Given the description of an element on the screen output the (x, y) to click on. 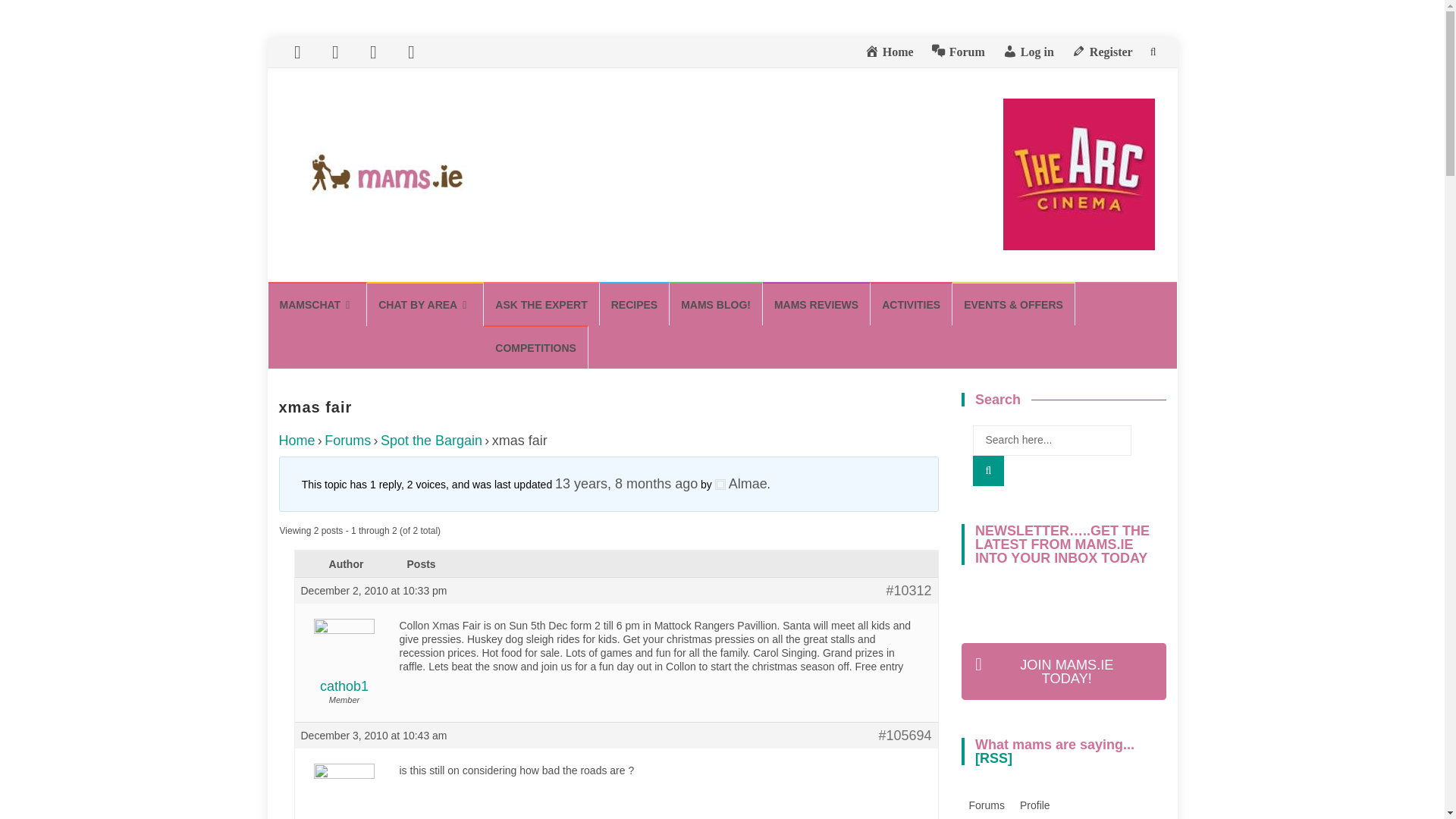
View Almae's profile (740, 483)
Search (988, 470)
Forum (958, 51)
Home (889, 51)
Site Wide Activity RSS Feed (993, 758)
Register (1101, 51)
REGISTER (1063, 671)
View Almae's profile (343, 800)
